Given the description of an element on the screen output the (x, y) to click on. 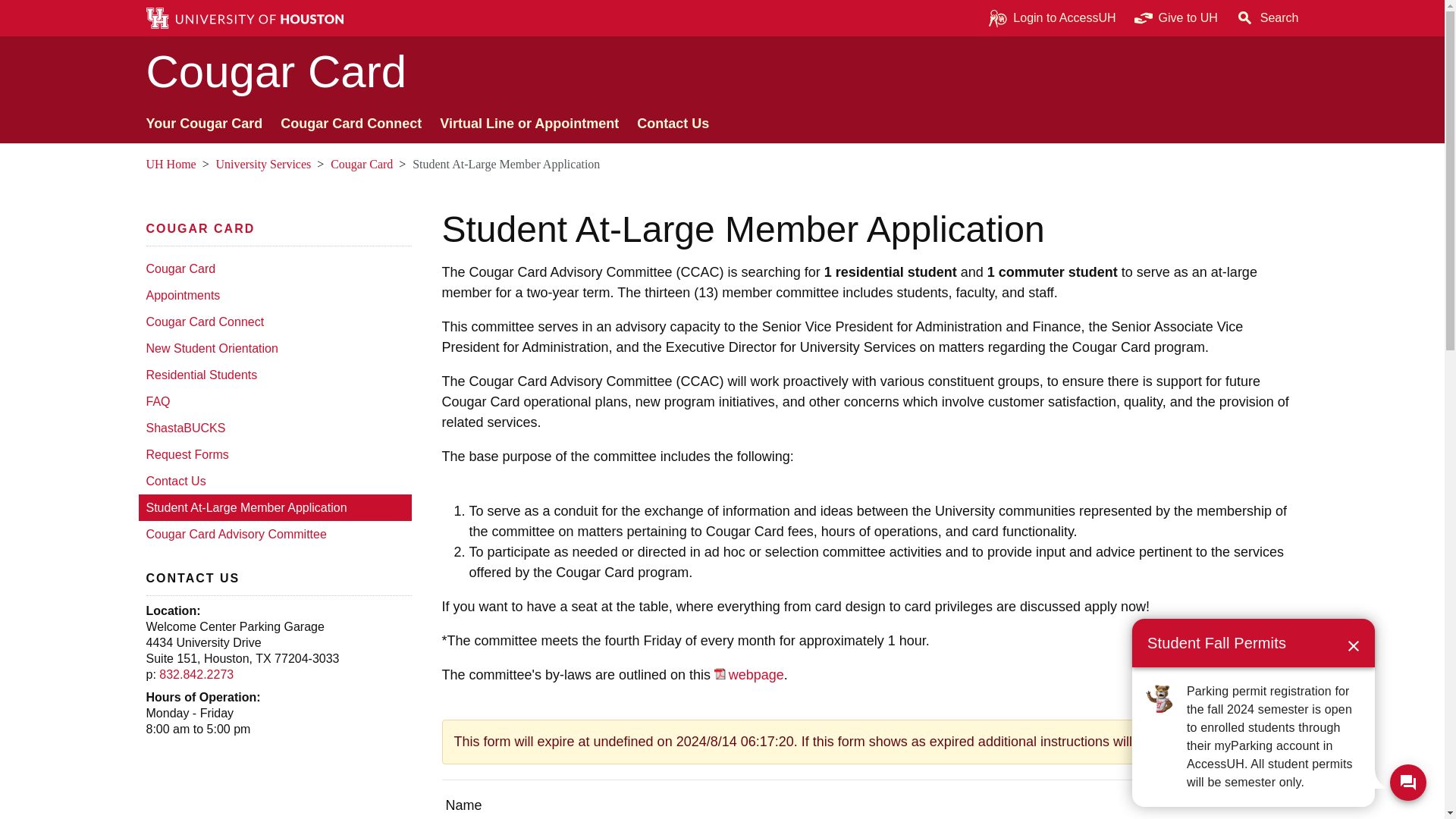
University of Houston (154, 164)
Cougar Card (274, 268)
Cougar Card (199, 228)
Cougar Card (361, 164)
Login to AccessUH (1051, 18)
University of Houston (1208, 17)
Residential Students (274, 374)
Search (1267, 18)
832.842.2273 (195, 674)
Contact Us (274, 480)
